Given the description of an element on the screen output the (x, y) to click on. 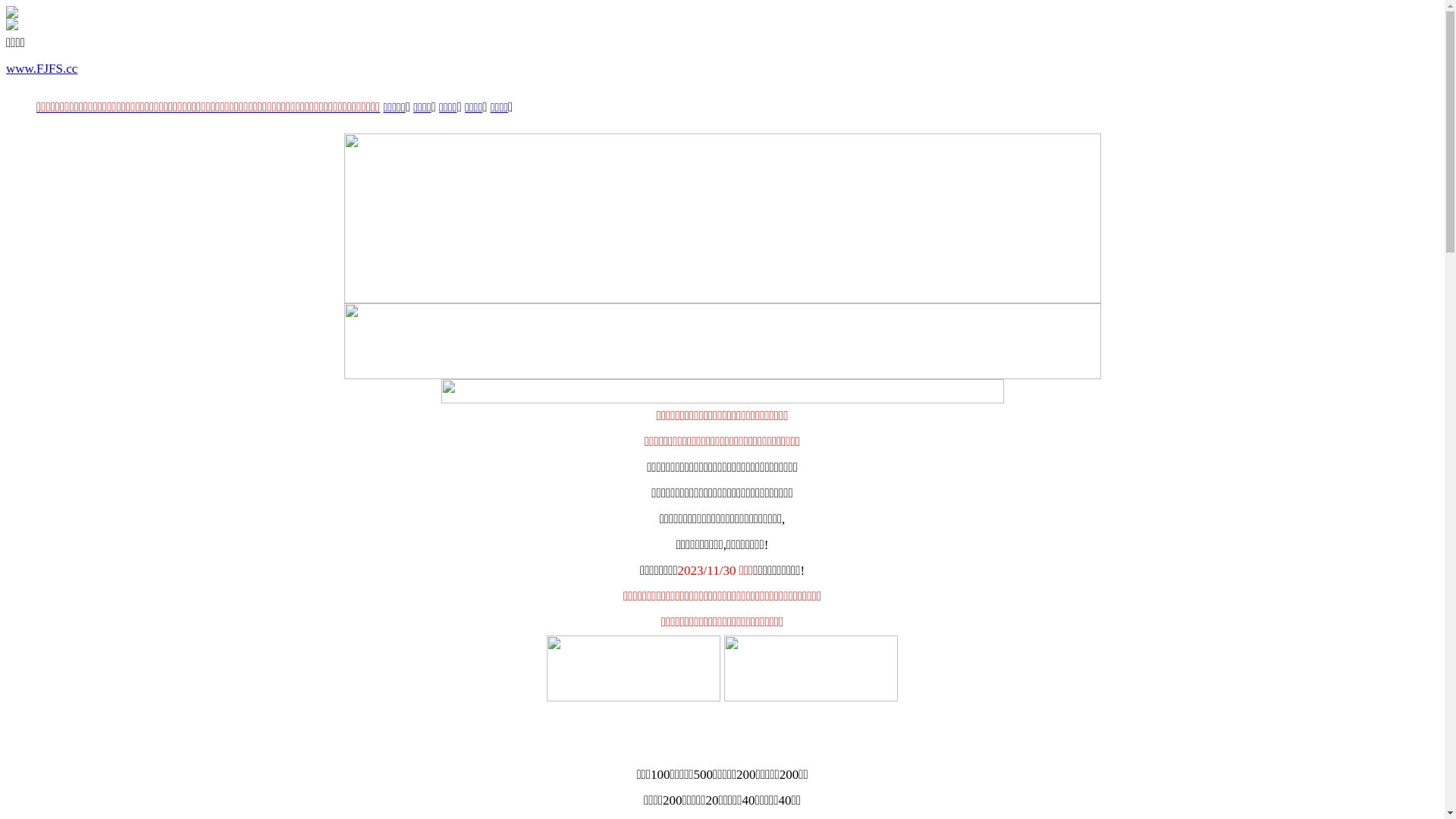
www.FJFS.cc Element type: text (41, 68)
